Given the description of an element on the screen output the (x, y) to click on. 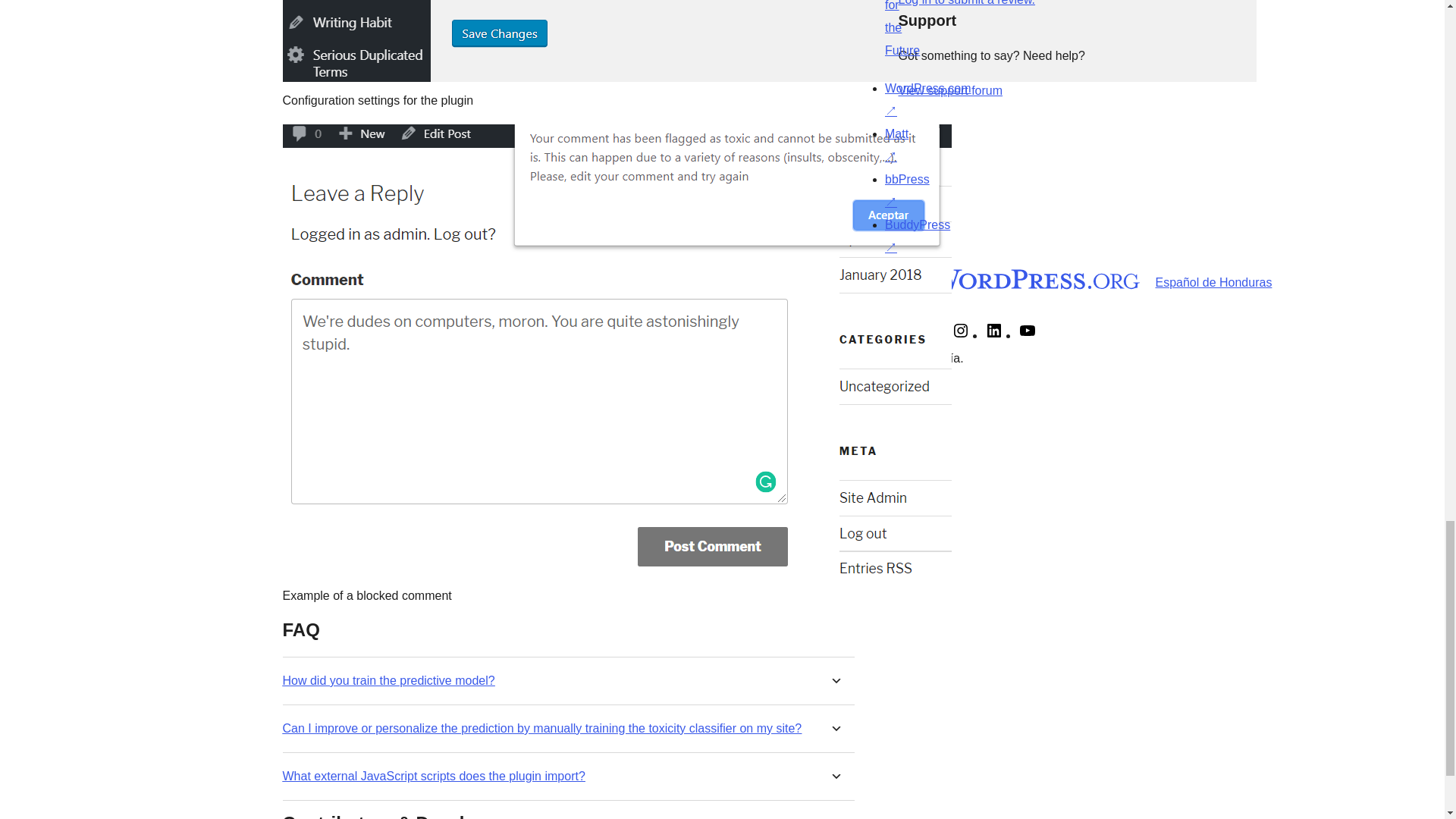
How did you train the predictive model? (388, 680)
What external JavaScript scripts does the plugin import? (433, 775)
Log in to WordPress.org (966, 2)
WordPress.org (864, 278)
WordPress.org (1014, 278)
